Given the description of an element on the screen output the (x, y) to click on. 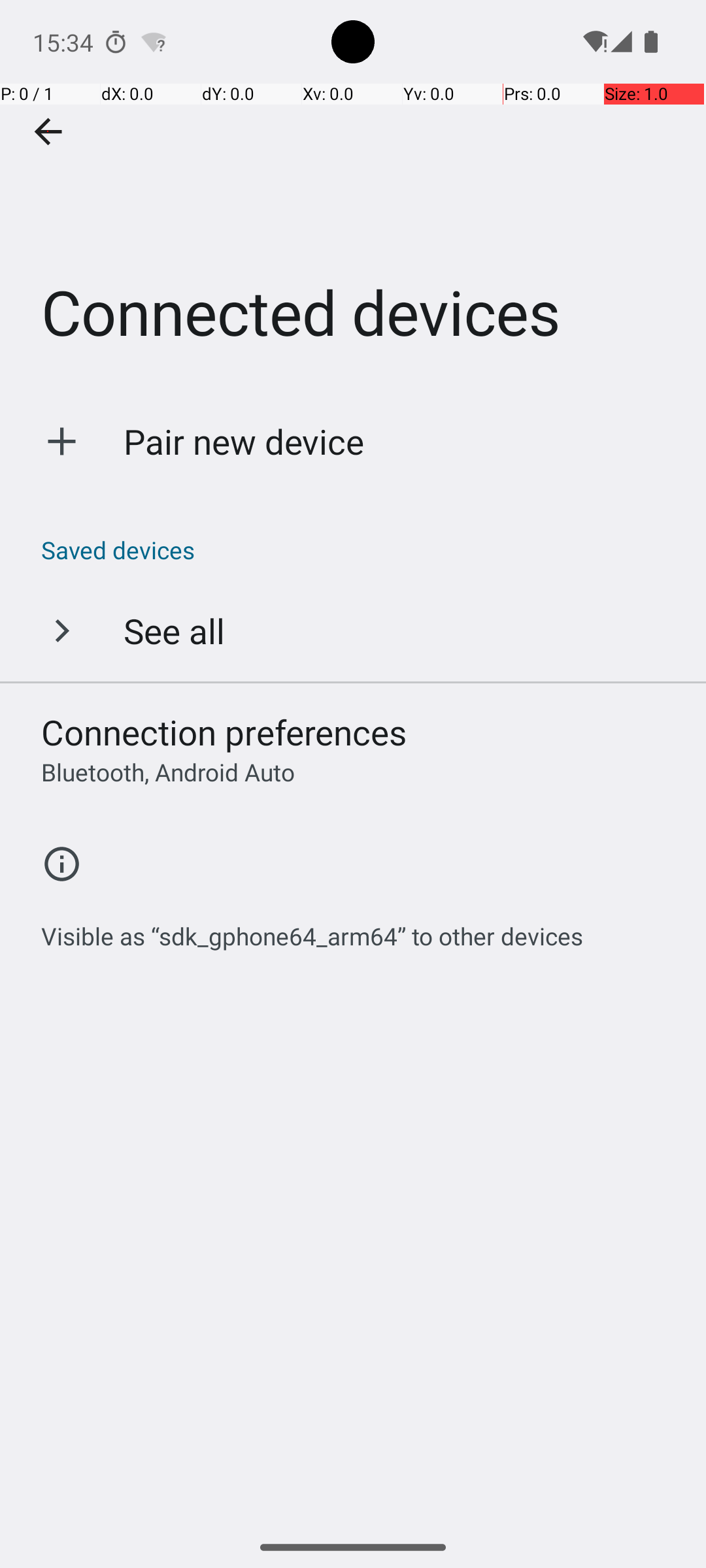
Visible as “sdk_gphone64_arm64” to other devices Element type: android.widget.TextView (312, 928)
